Given the description of an element on the screen output the (x, y) to click on. 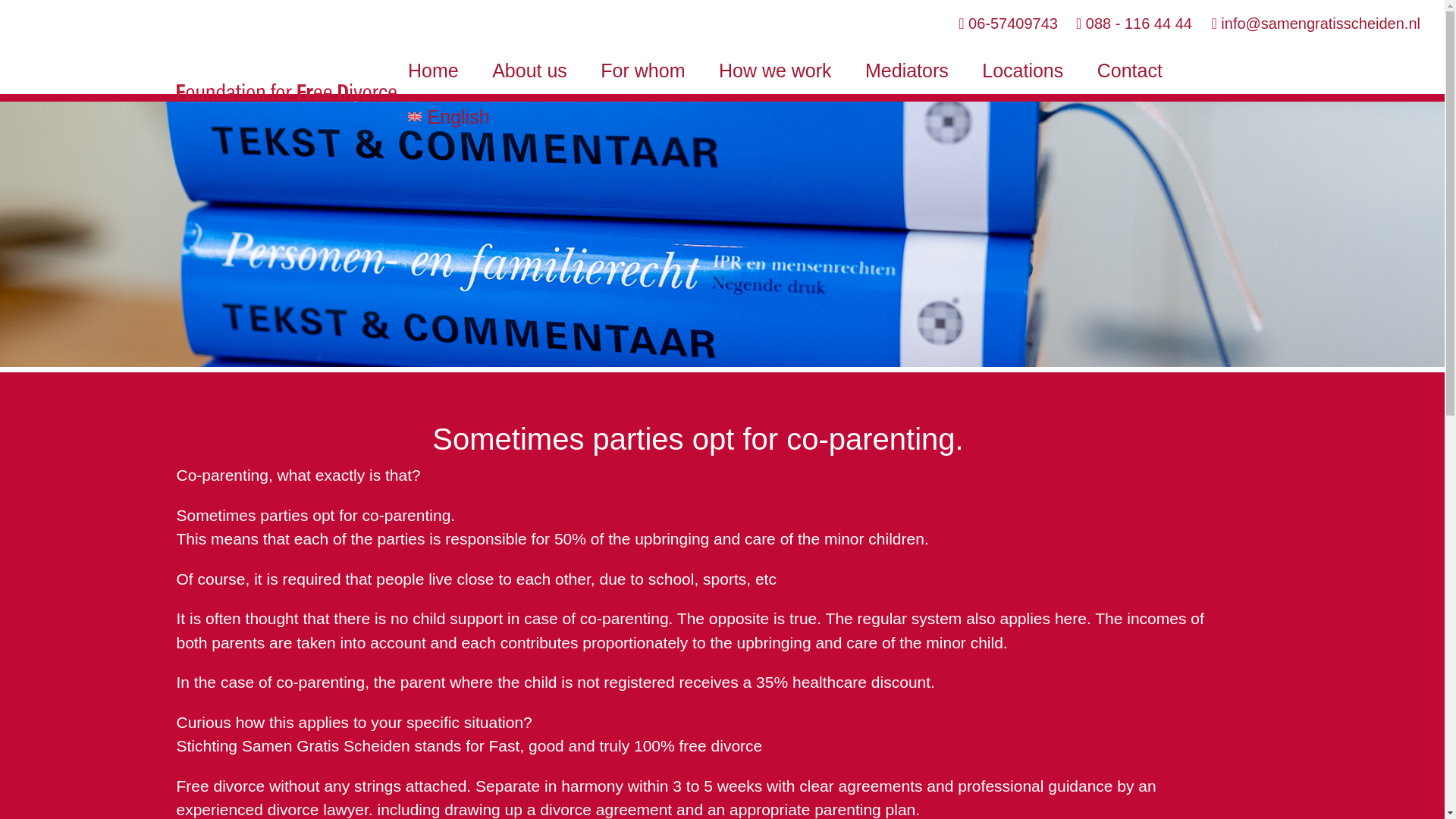
How we work (775, 71)
Contact (1129, 71)
Skip to content (434, 56)
06-57409743 (1008, 23)
088 - 116 44 44 (1135, 23)
Locations (1022, 71)
English (448, 116)
Home (433, 71)
For whom (642, 71)
English (448, 116)
Mediators (906, 71)
About us (529, 71)
Skip to content (434, 56)
